Given the description of an element on the screen output the (x, y) to click on. 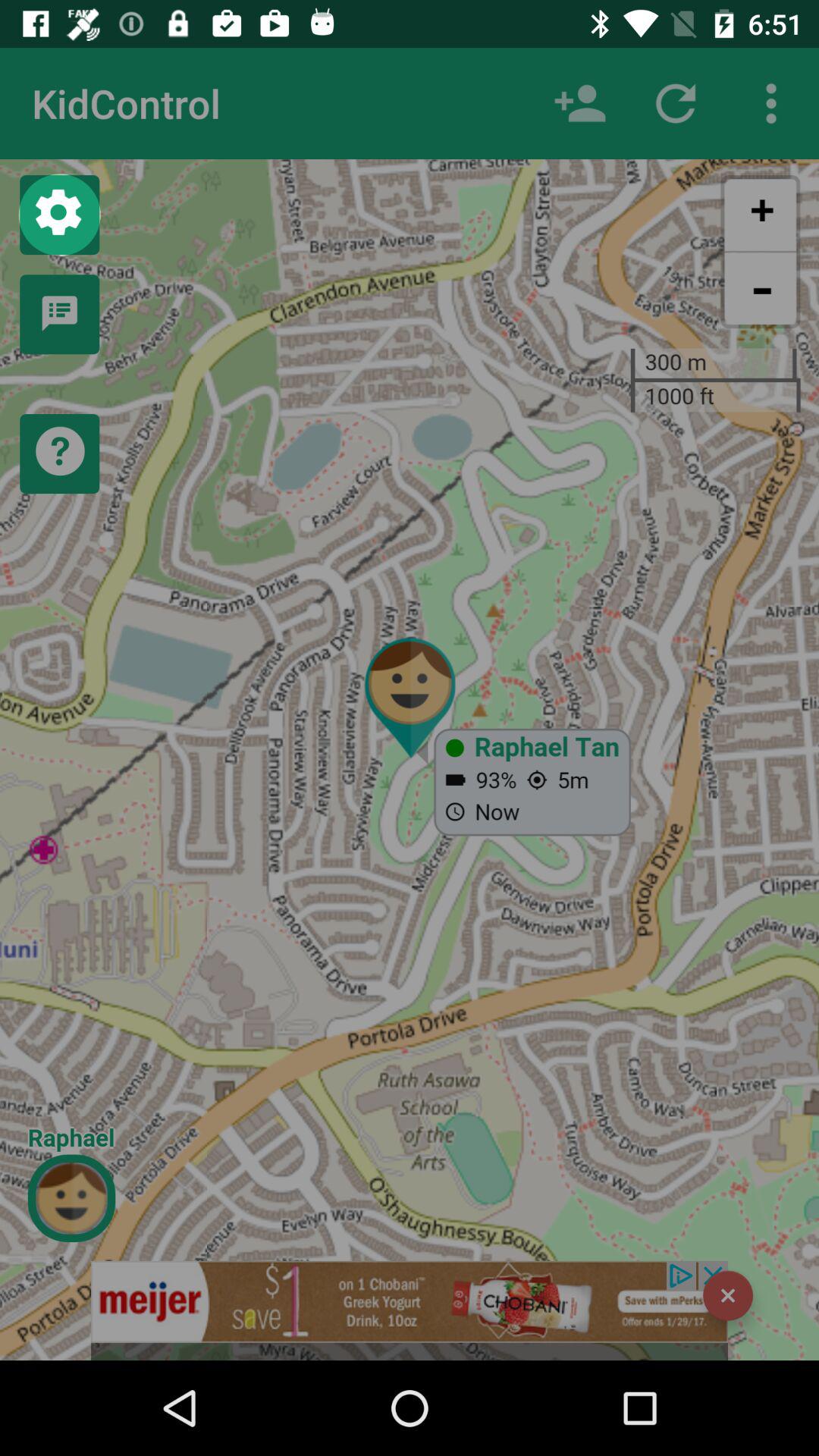
go to settings (59, 214)
